Given the description of an element on the screen output the (x, y) to click on. 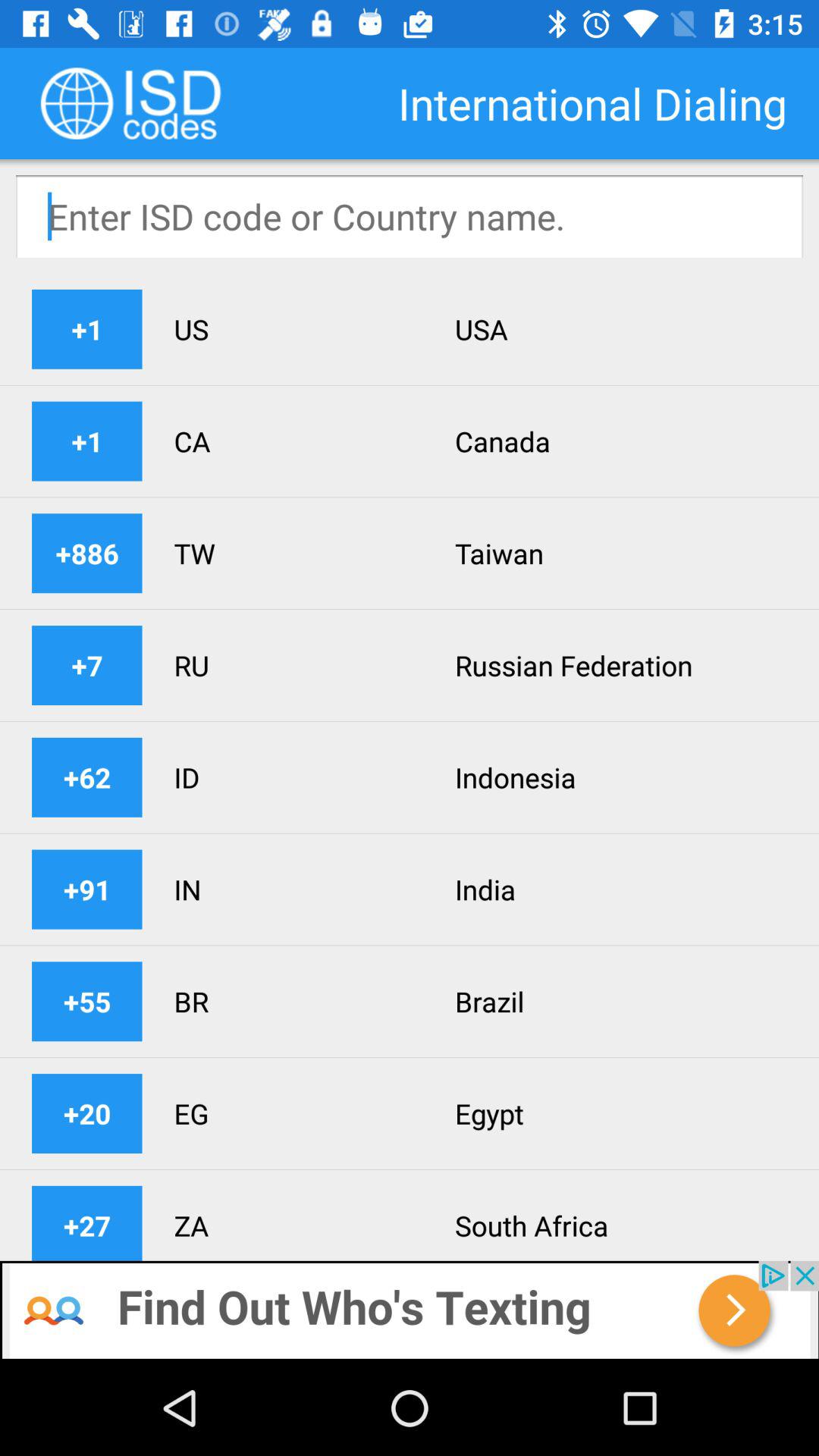
goes to advertiser 's website (409, 1310)
